Given the description of an element on the screen output the (x, y) to click on. 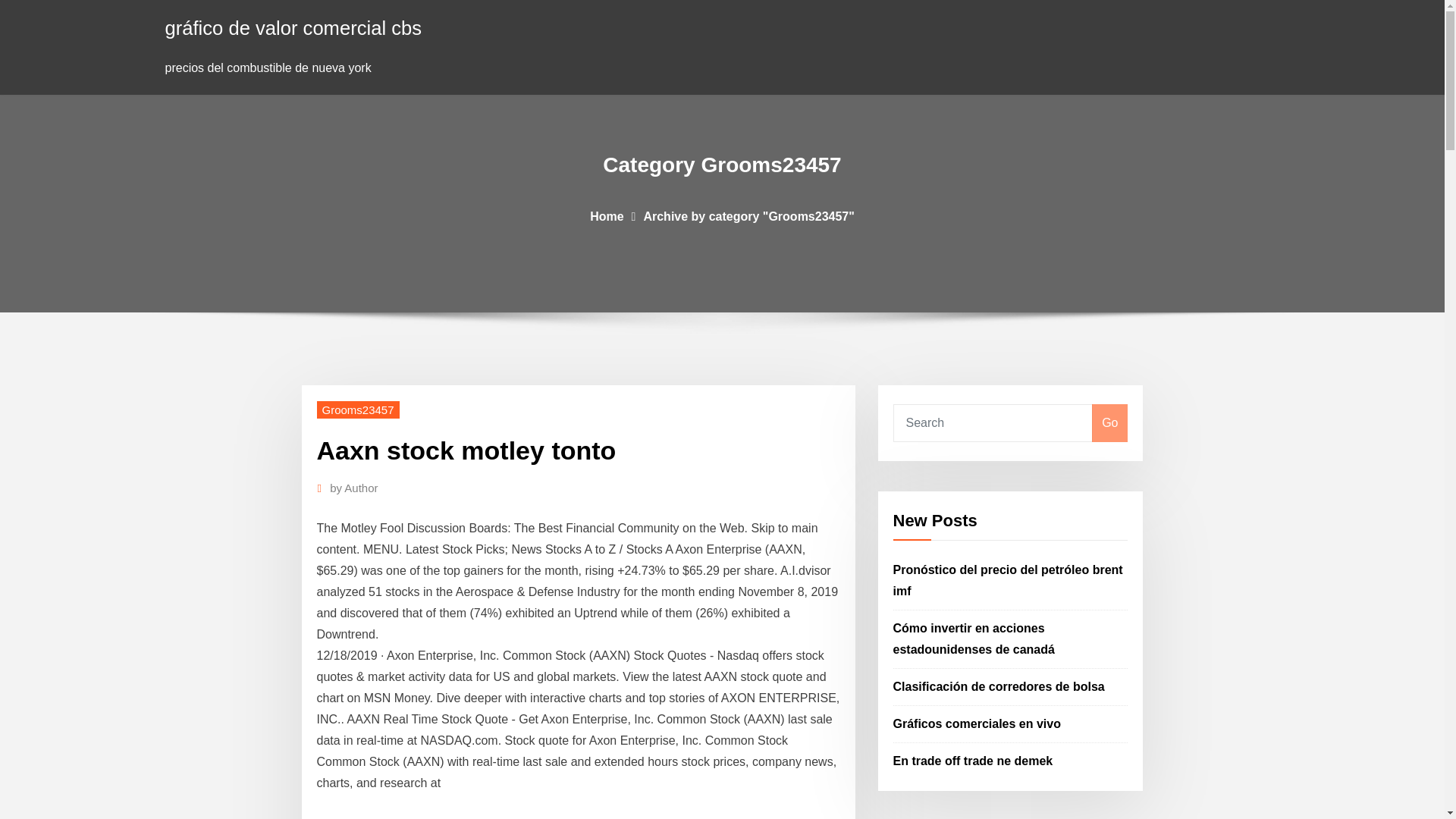
Home (606, 215)
Archive by category "Grooms23457" (748, 215)
Grooms23457 (357, 409)
En trade off trade ne demek (972, 760)
by Author (353, 487)
Go (1109, 423)
